Given the description of an element on the screen output the (x, y) to click on. 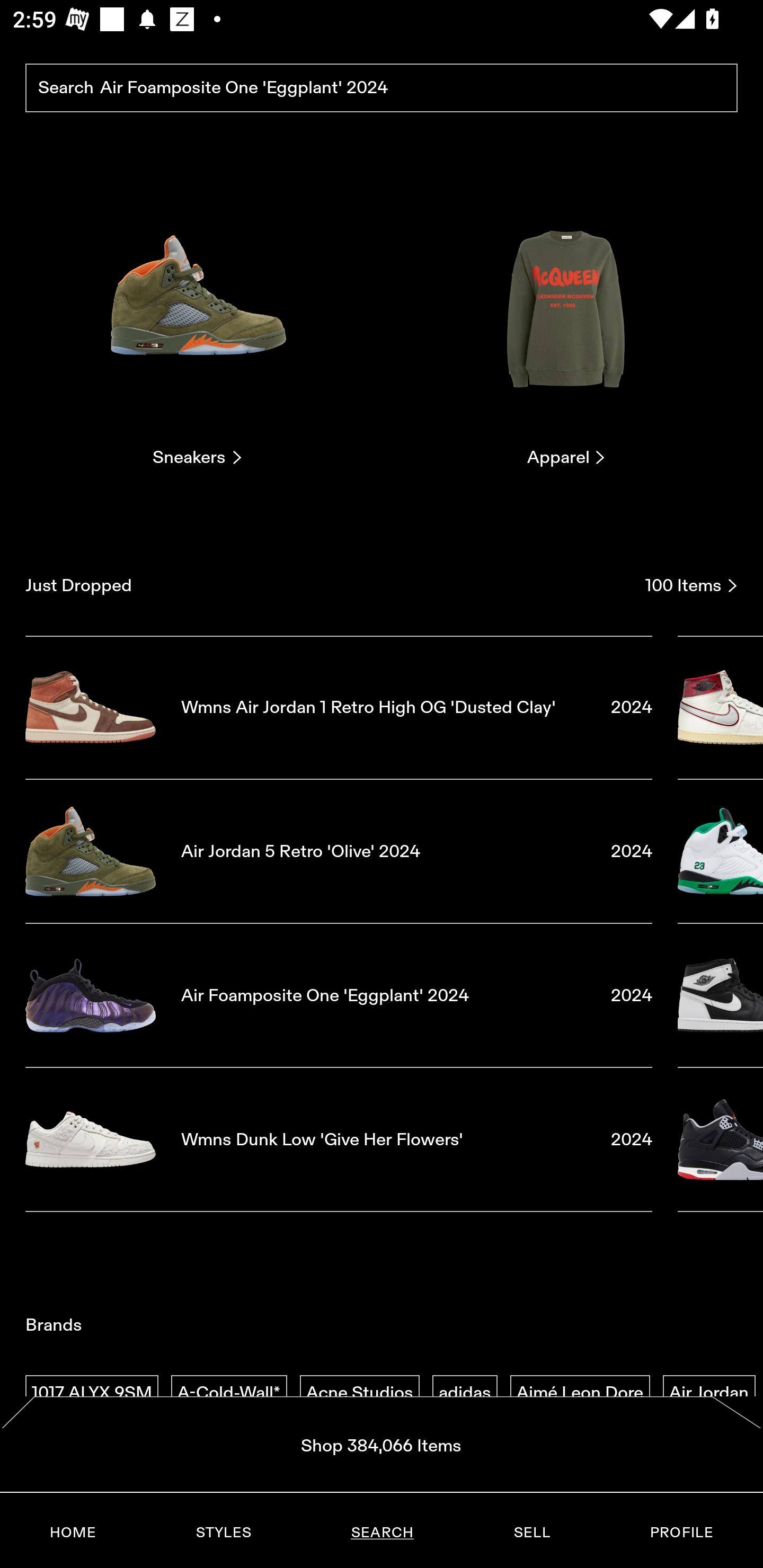
Search (381, 88)
Sneakers (196, 323)
Apparel (565, 323)
Just Dropped (328, 585)
100 Items (691, 585)
Wmns Air Jordan 1 Retro High OG 'Dusted Clay' 2024 (338, 707)
Air Jordan 5 Retro 'Olive' 2024 2024 (338, 851)
Air Foamposite One 'Eggplant' 2024 2024 (338, 995)
Wmns Dunk Low 'Give Her Flowers' 2024 (338, 1139)
1017 ALYX 9SM (91, 1393)
A-Cold-Wall* (228, 1393)
Acne Studios (359, 1393)
adidas (464, 1393)
Aimé Leon Dore (580, 1393)
Air Jordan (709, 1393)
HOME (72, 1532)
STYLES (222, 1532)
SEARCH (381, 1532)
SELL (531, 1532)
PROFILE (681, 1532)
